Given the description of an element on the screen output the (x, y) to click on. 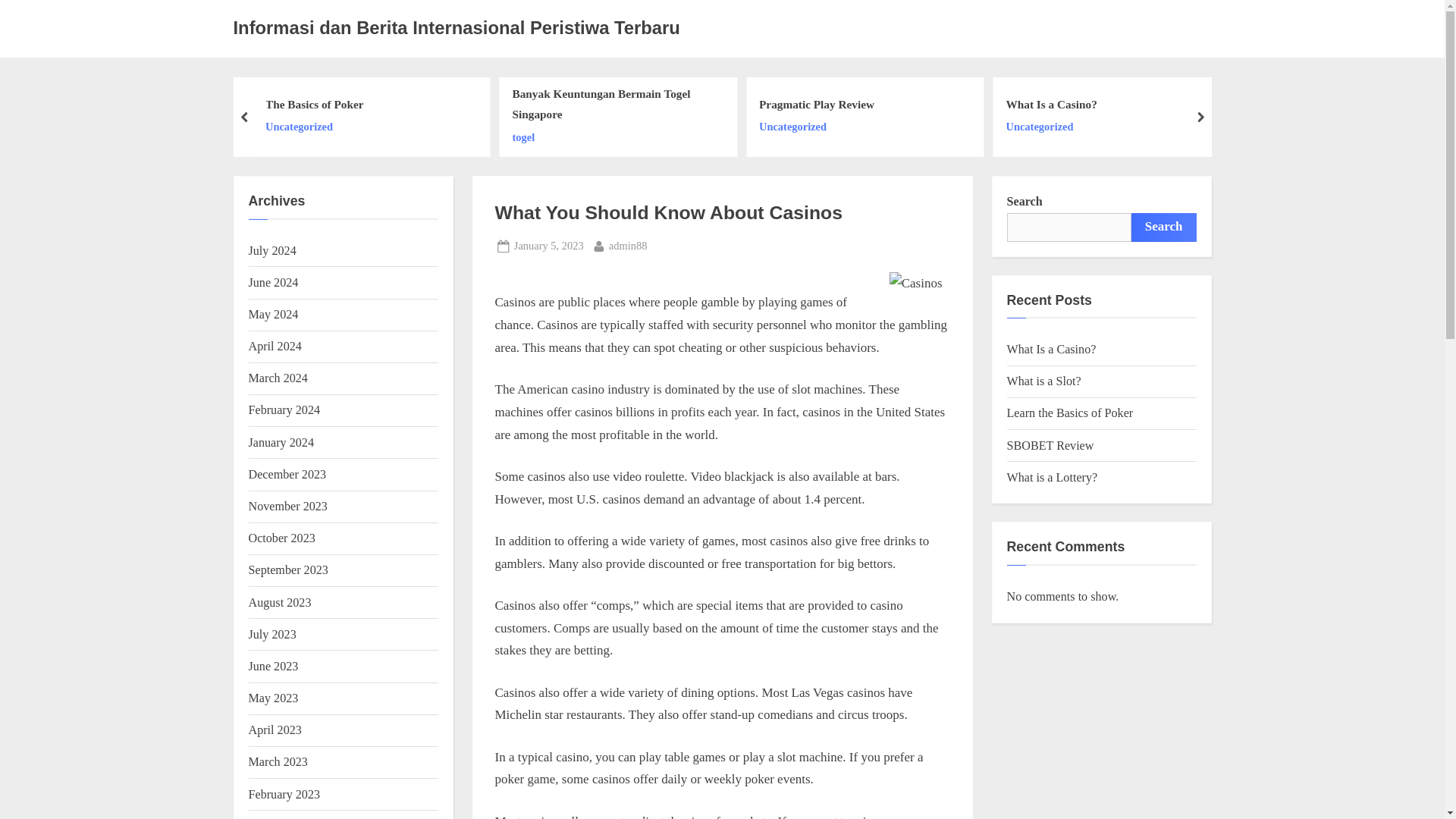
Uncategorized (1051, 126)
The Basics of Poker (314, 105)
Banyak Keuntungan Bermain Togel Singapore (548, 245)
Uncategorized (627, 245)
Informasi dan Berita Internasional Peristiwa Terbaru (613, 104)
Uncategorized (815, 126)
togel (455, 27)
Pragmatic Play Review (314, 126)
What Is a Casino? (613, 137)
